Given the description of an element on the screen output the (x, y) to click on. 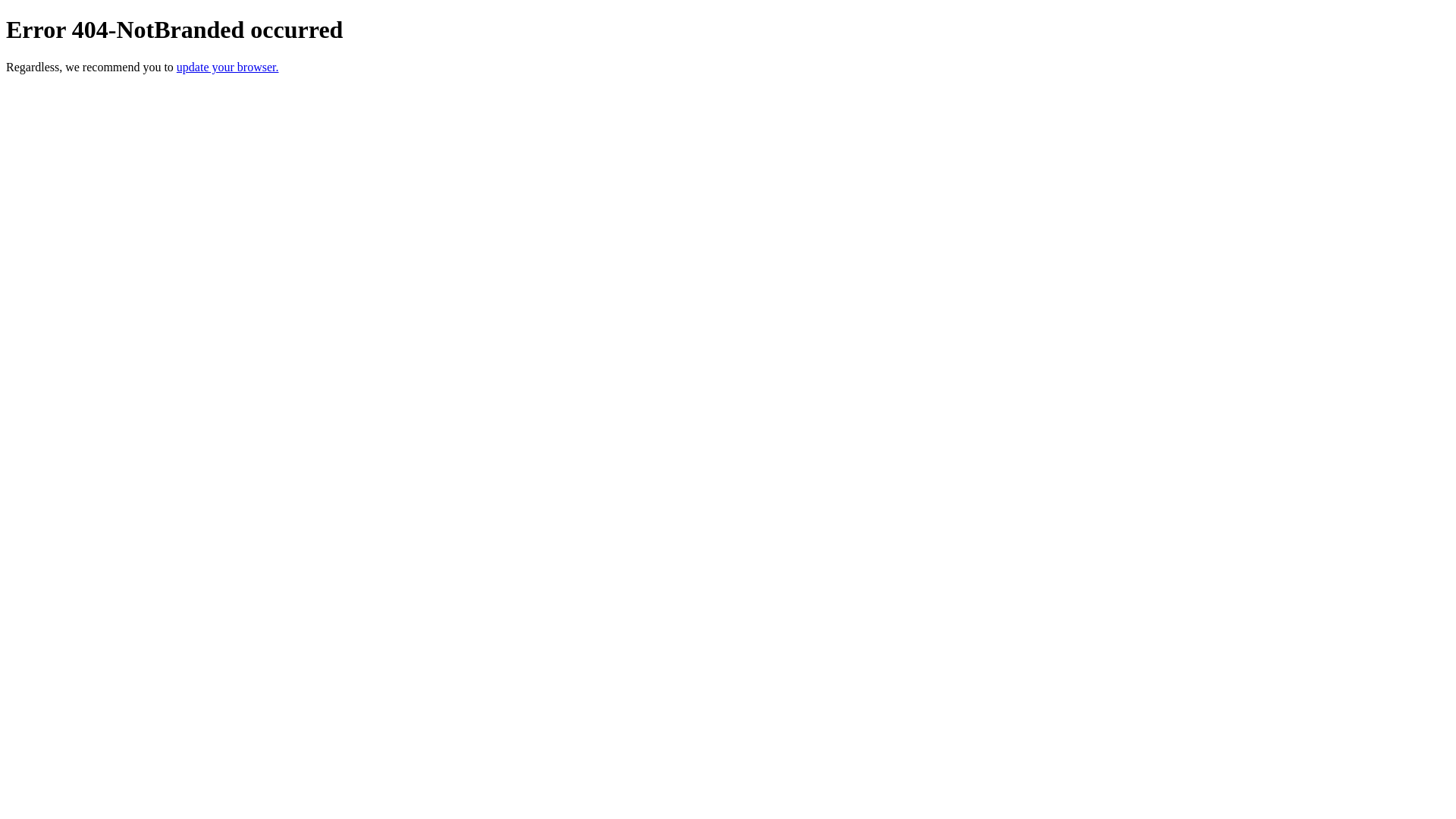
update your browser. Element type: text (227, 66)
